Given the description of an element on the screen output the (x, y) to click on. 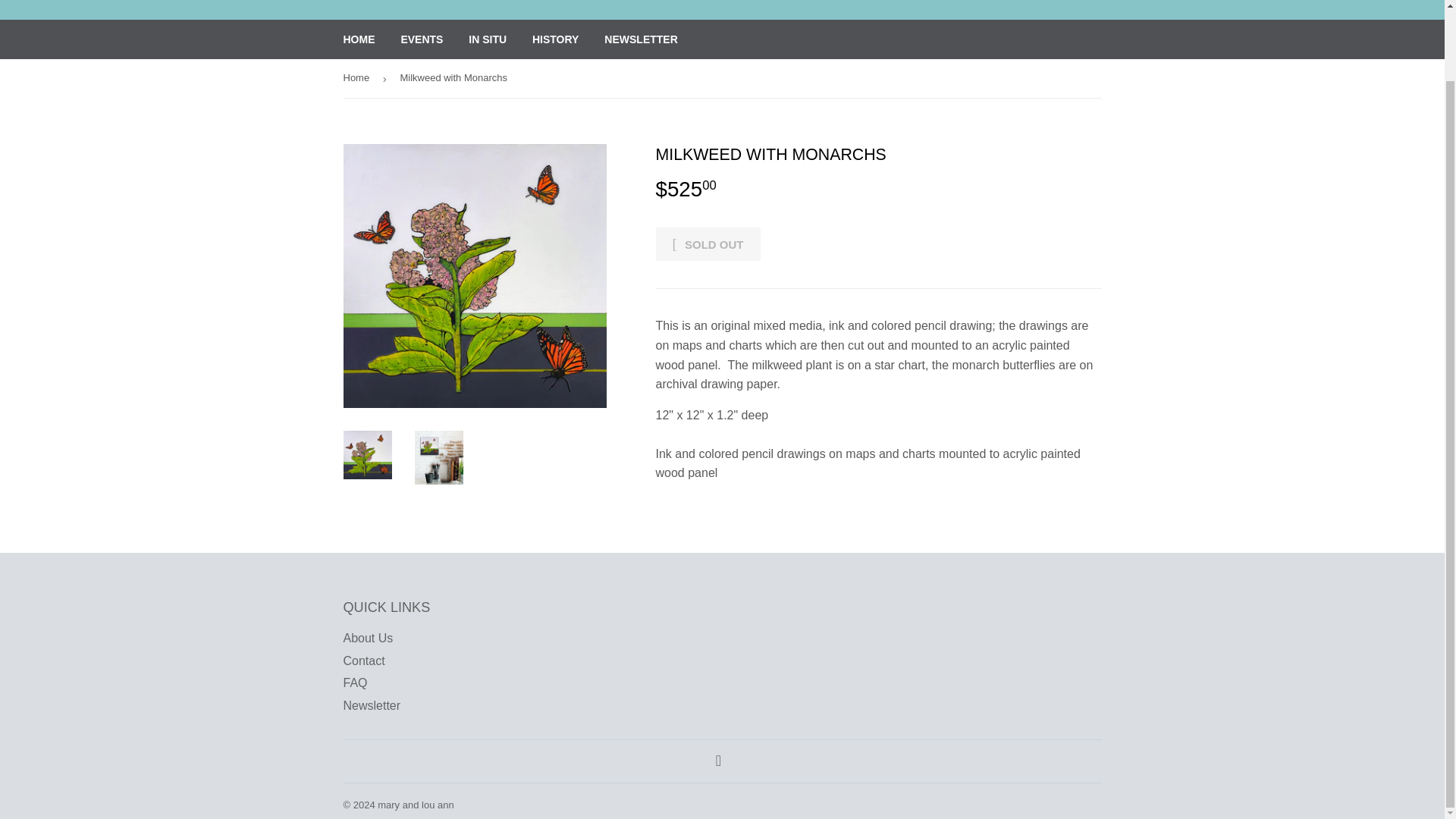
mary and lou ann (414, 804)
NEWSLETTER (640, 38)
Newsletter (371, 705)
SOLD OUT (707, 244)
EVENTS (421, 38)
About Us (367, 637)
Contact (363, 660)
FAQ (354, 682)
HISTORY (555, 38)
IN SITU (487, 38)
